Given the description of an element on the screen output the (x, y) to click on. 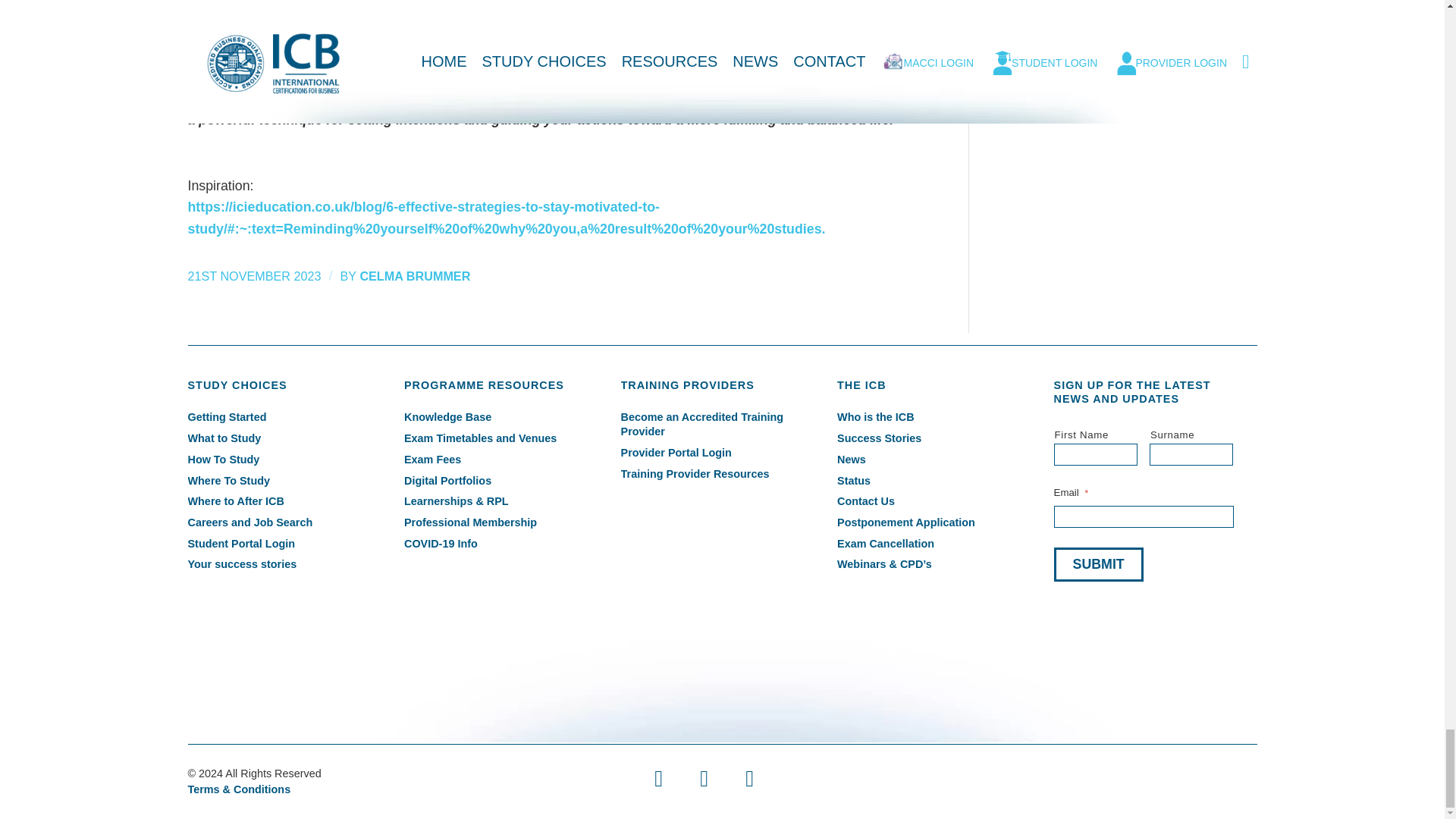
Facebook (659, 778)
Posts by Celma Brummer (414, 275)
Youtube (704, 778)
Submit (1098, 564)
